Given the description of an element on the screen output the (x, y) to click on. 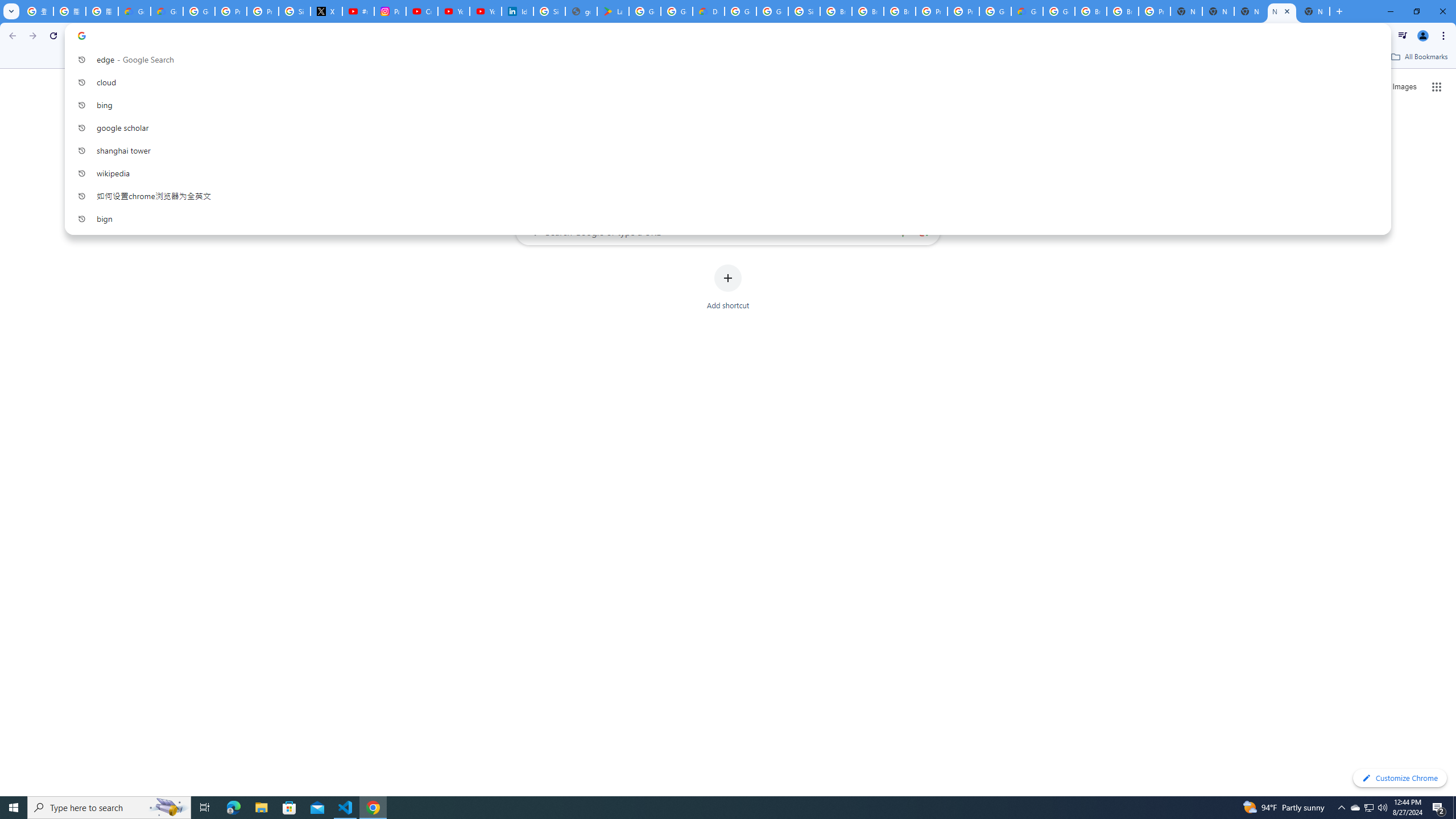
google scholar search from history (723, 127)
Browse Chrome as a guest - Computer - Google Chrome Help (836, 11)
Browse Chrome as a guest - Computer - Google Chrome Help (1091, 11)
wikipedia search from history (723, 173)
